Given the description of an element on the screen output the (x, y) to click on. 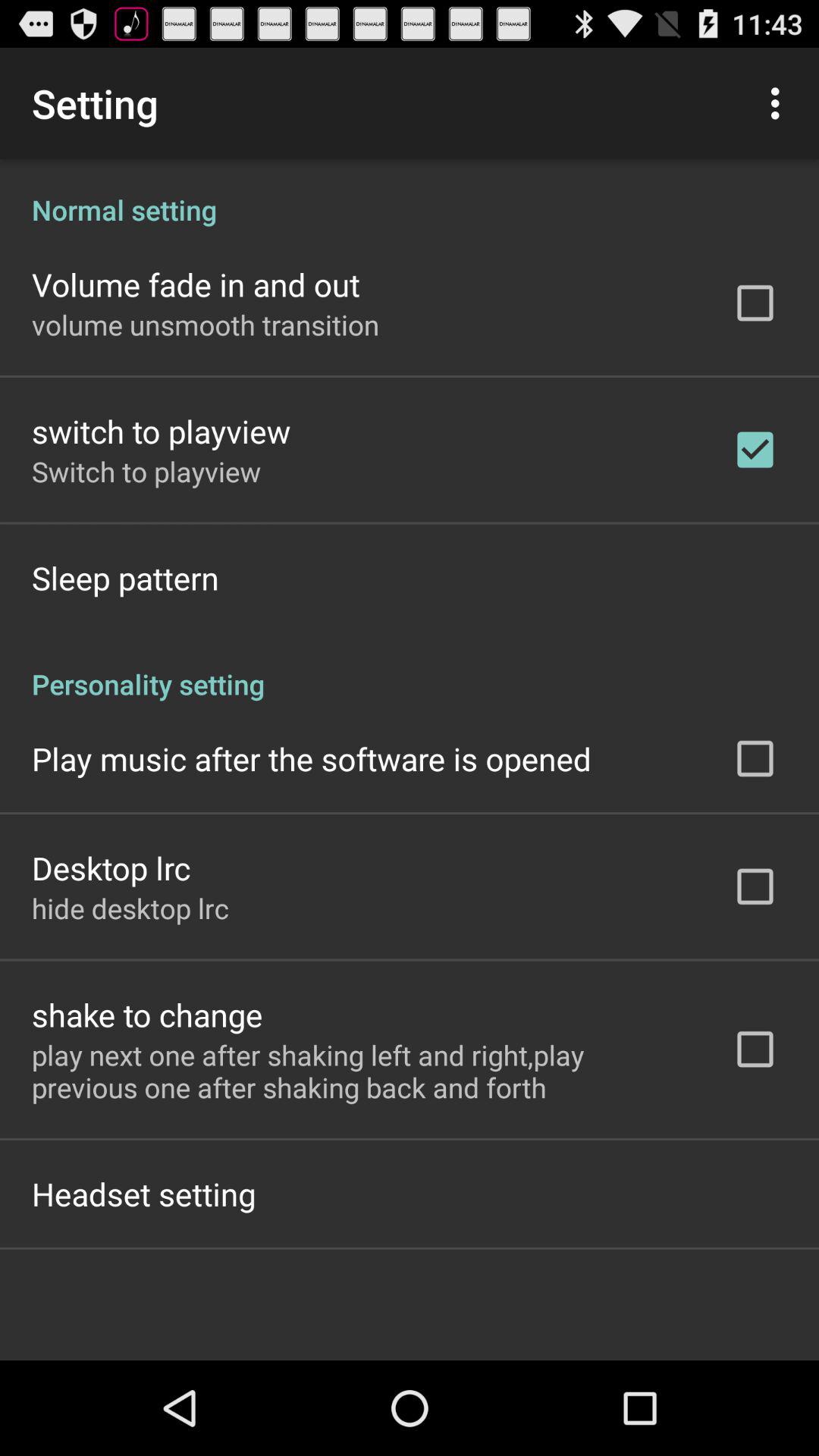
turn on icon above the normal setting (779, 103)
